Given the description of an element on the screen output the (x, y) to click on. 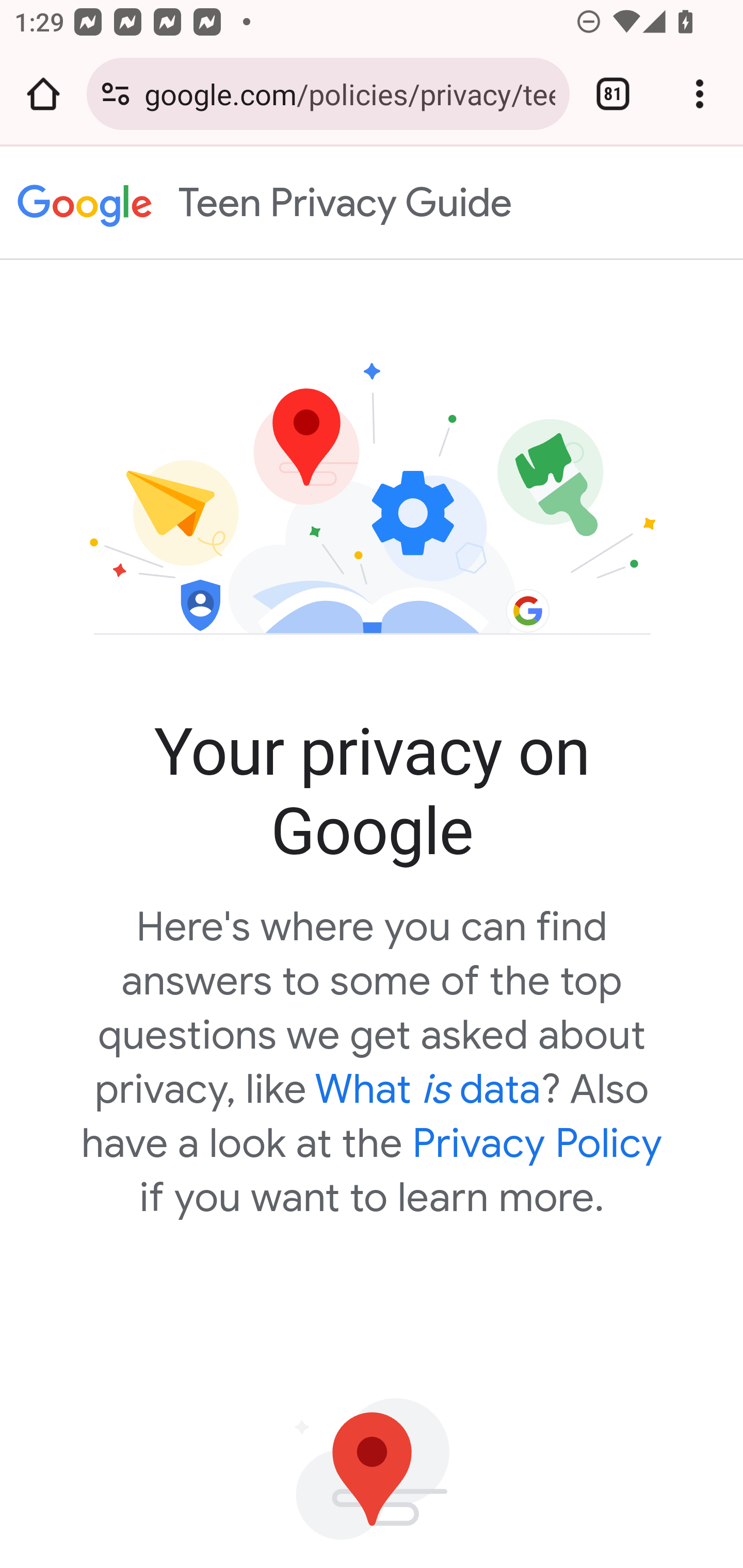
Open the home page (43, 93)
Connection is secure (115, 93)
Switch or close tabs (612, 93)
Customize and control Google Chrome (699, 93)
google.com/policies/privacy/teens/ (349, 92)
Teen Privacy Guide (84, 202)
Teen Privacy Guide (450, 202)
What is data What  is  data (427, 1089)
Privacy Policy (537, 1142)
